Given the description of an element on the screen output the (x, y) to click on. 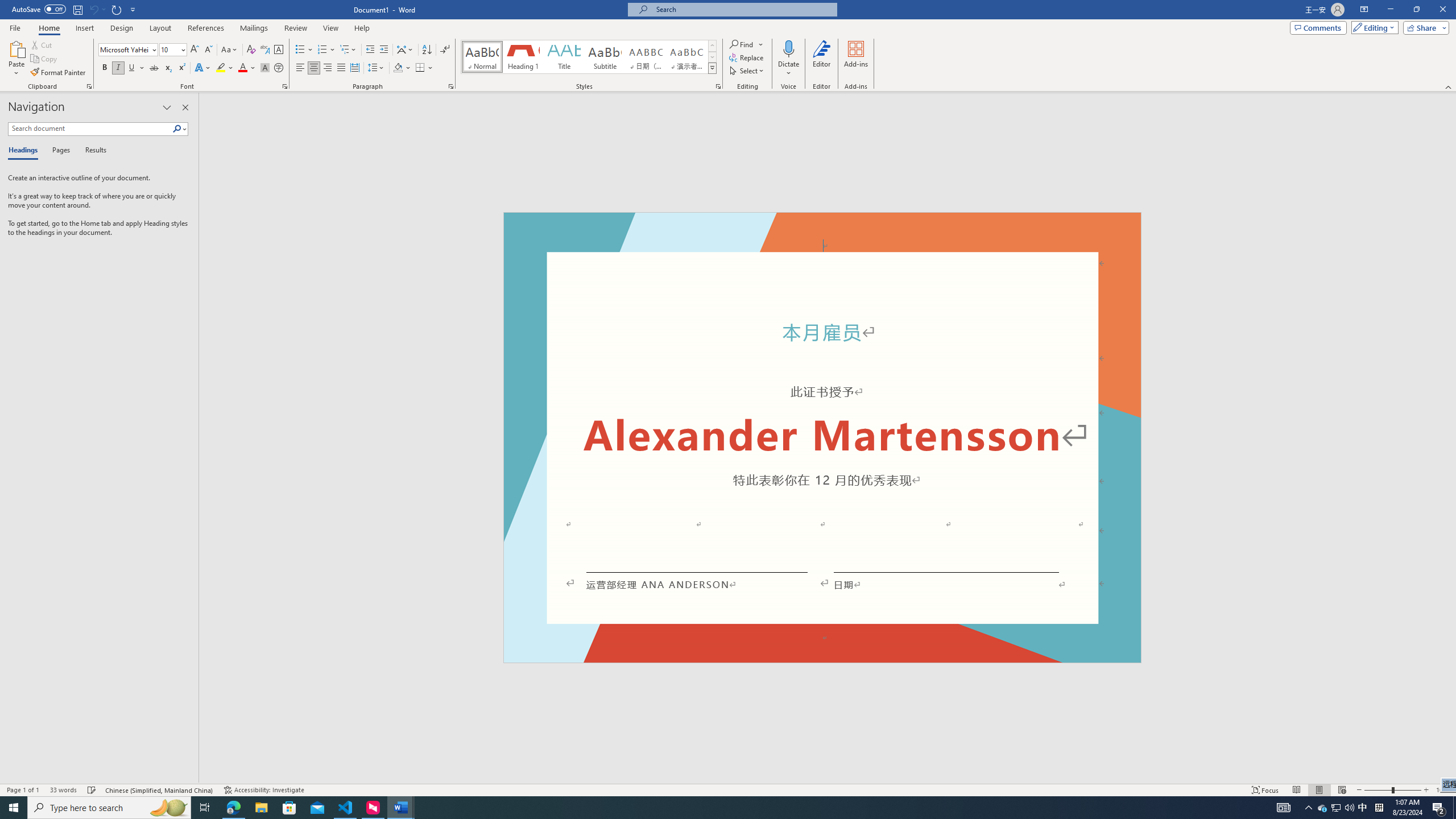
Can't Undo (96, 9)
Zoom 100% (1443, 790)
